Given the description of an element on the screen output the (x, y) to click on. 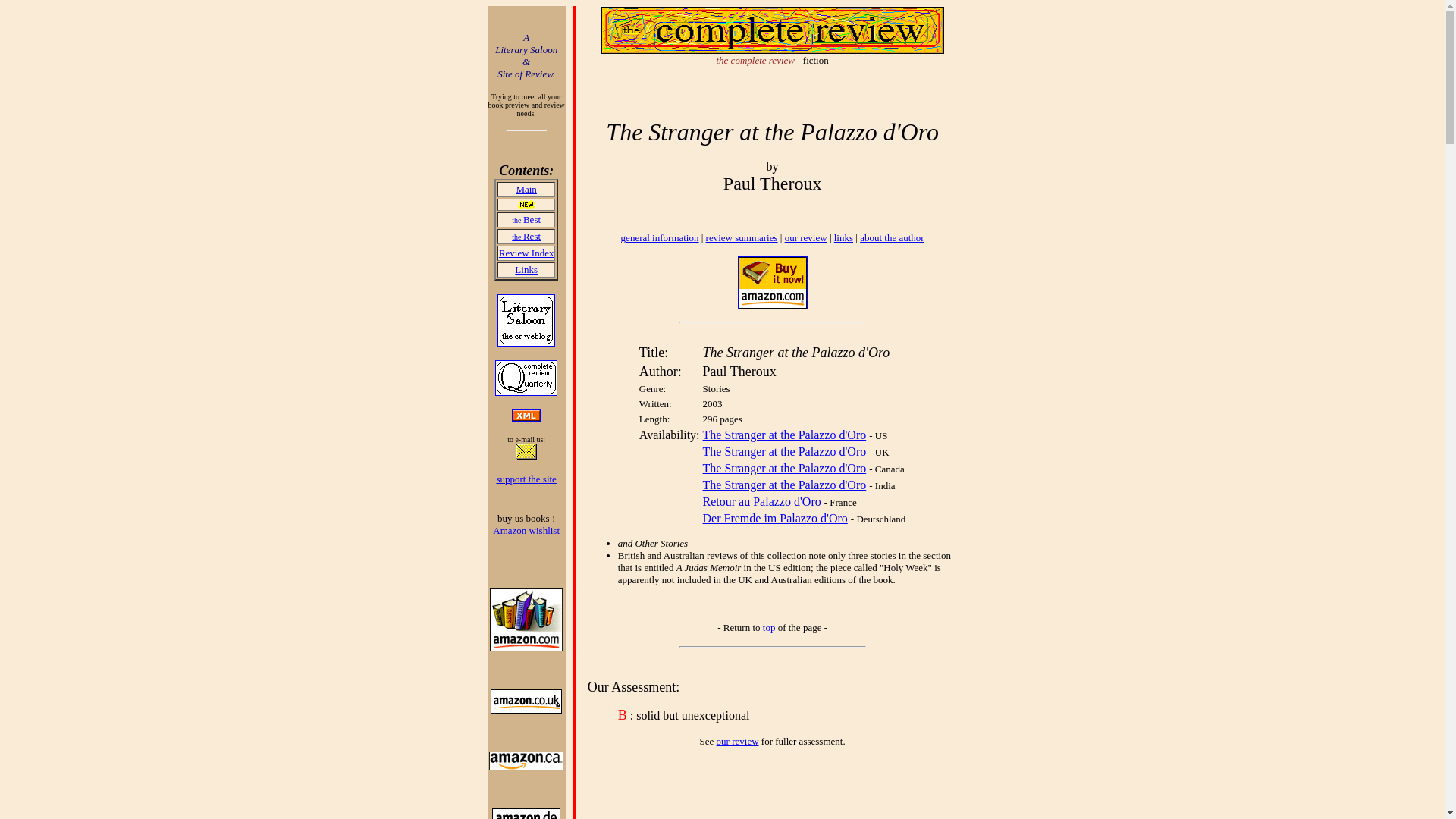
our review (805, 237)
general information (659, 237)
our review (737, 740)
Der Fremde im Palazzo d'Oro (775, 517)
support the site (526, 478)
The Stranger at the Palazzo d'Oro (784, 484)
the Best (526, 218)
links (843, 237)
top (769, 627)
The Stranger at the Palazzo d'Oro (784, 451)
Advertisement (758, 789)
Review Index (526, 251)
The Stranger at the Palazzo d'Oro (784, 434)
The Stranger at the Palazzo d'Oro (784, 468)
about the author (891, 237)
